Given the description of an element on the screen output the (x, y) to click on. 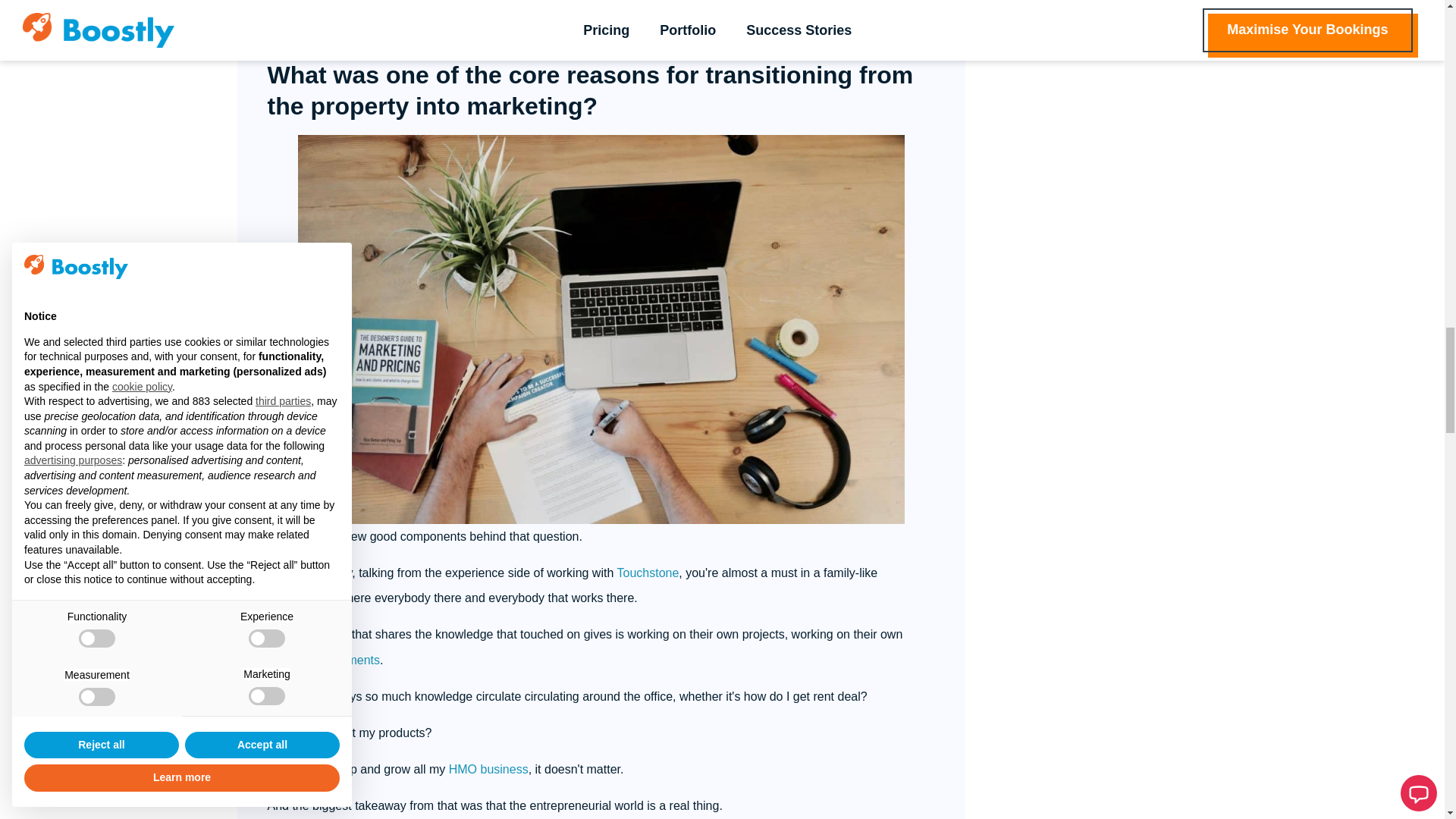
Touchstone (646, 572)
HMO business (488, 768)
property investments (323, 659)
